Given the description of an element on the screen output the (x, y) to click on. 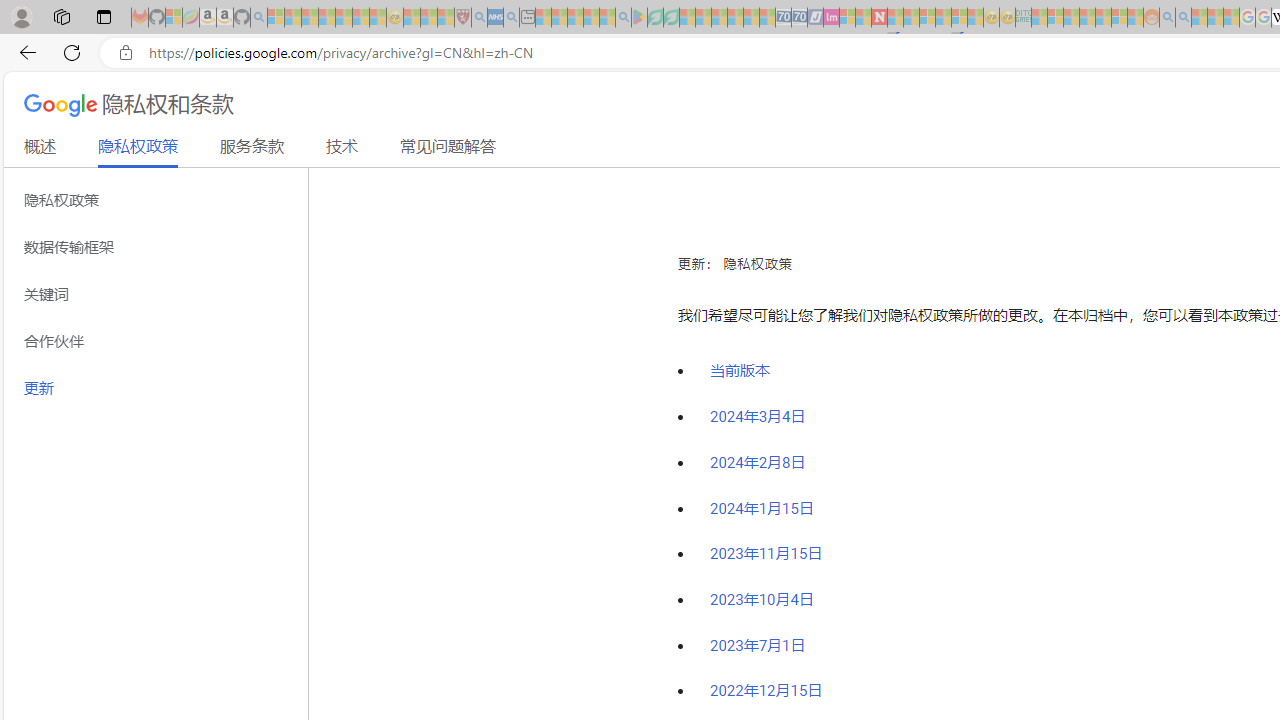
Kinda Frugal - MSN - Sleeping (1103, 17)
list of asthma inhalers uk - Search - Sleeping (479, 17)
